Given the description of an element on the screen output the (x, y) to click on. 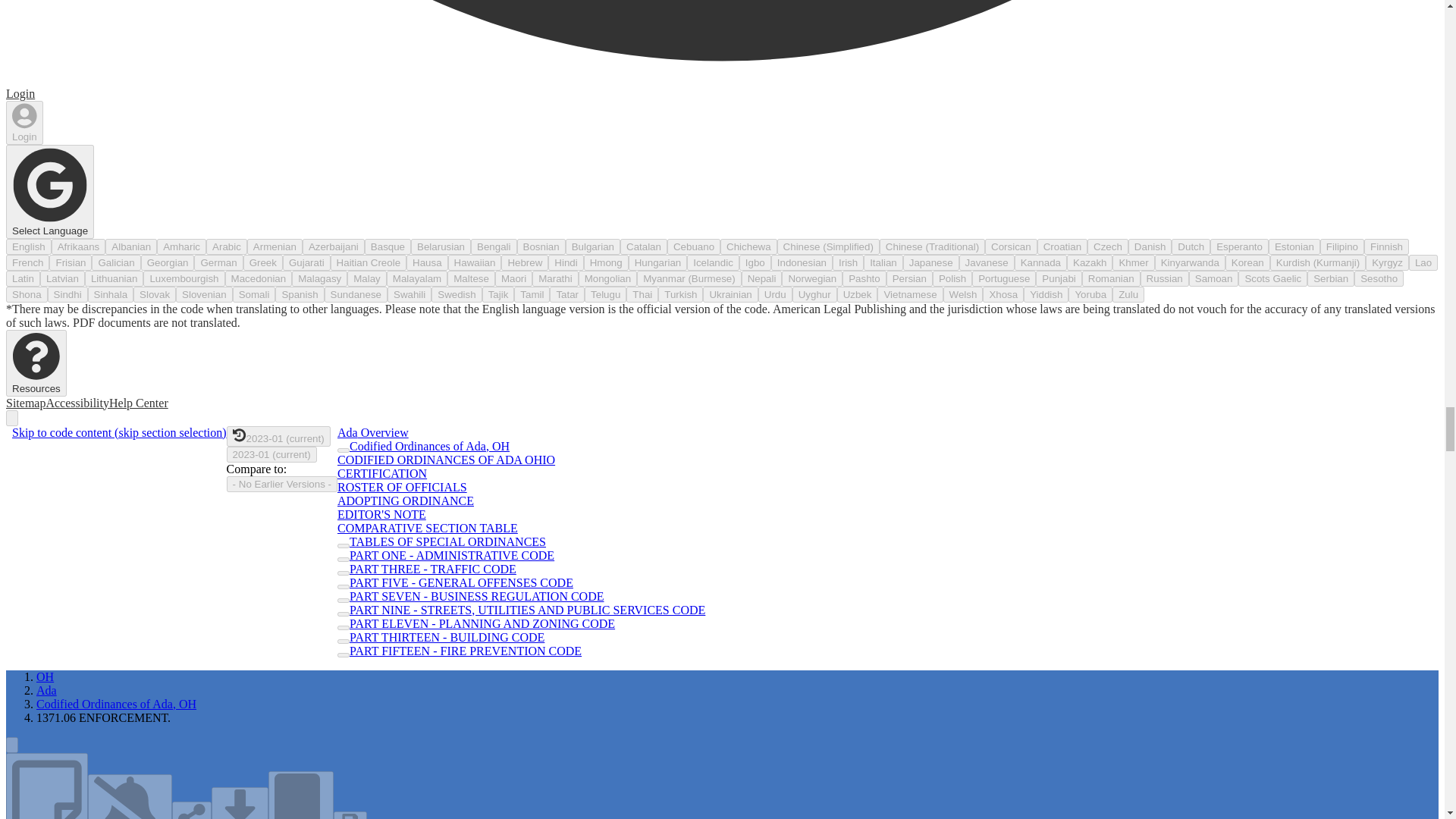
Croatian (1061, 246)
Albanian (130, 246)
Annotations Off (46, 785)
Bengali (493, 246)
Afrikaans (78, 246)
Codified Ordinances of Ada, OH (116, 703)
Azerbaijani (333, 246)
Estonian (1294, 246)
English (27, 246)
Catalan (643, 246)
Danish (1150, 246)
Czech (1107, 246)
Cebuano (693, 246)
Bulgarian (593, 246)
Belarusian (440, 246)
